Given the description of an element on the screen output the (x, y) to click on. 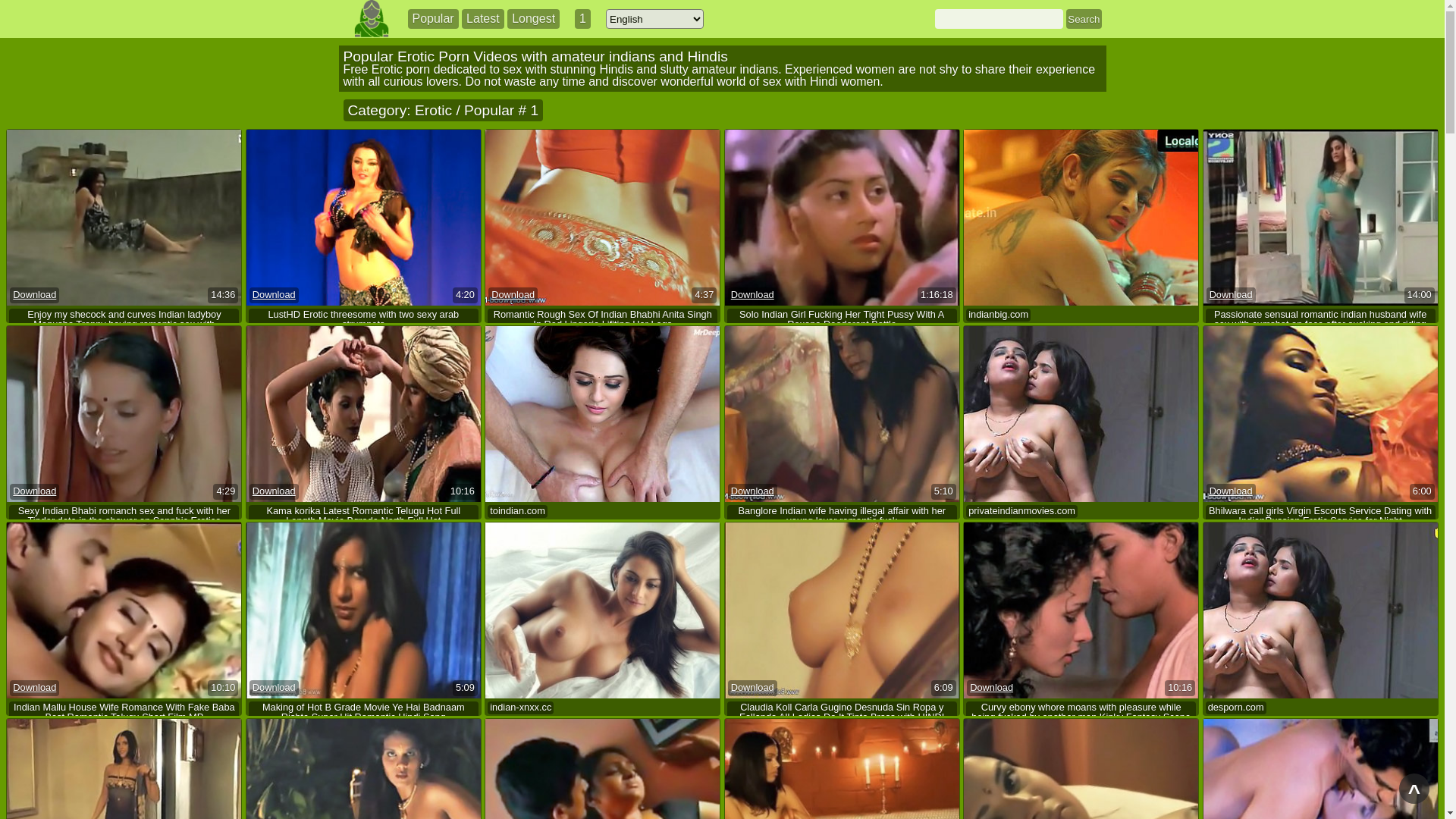
Popular Element type: text (432, 18)
Download Element type: text (273, 295)
Download Element type: text (34, 295)
Download Element type: text (273, 491)
Download Element type: text (752, 491)
Download Element type: text (1230, 295)
Download Element type: text (752, 295)
Download Element type: text (991, 688)
privateindianmovies.com Element type: text (1021, 511)
Download Element type: text (512, 295)
^ Element type: text (1414, 788)
Search Element type: text (1083, 18)
1 Element type: text (582, 18)
Download Element type: text (752, 688)
desporn.com Element type: text (1235, 707)
Latest Element type: text (482, 18)
toindian.com Element type: text (517, 511)
Download Element type: text (273, 688)
Longest Element type: text (533, 18)
Popular Latest Longest Element type: text (483, 18)
Download Element type: text (34, 491)
indian-xnxx.cc Element type: text (520, 707)
indianbig.com Element type: text (998, 314)
Download Element type: text (1230, 491)
Download Element type: text (34, 688)
